Given the description of an element on the screen output the (x, y) to click on. 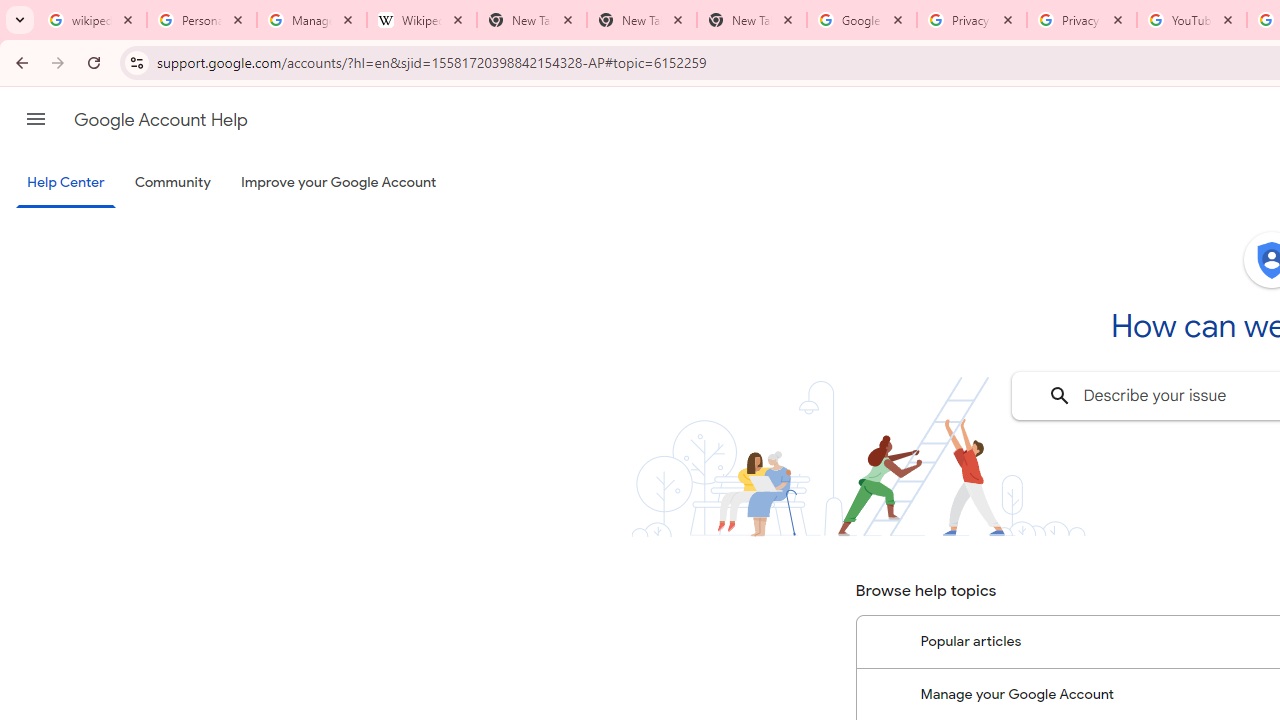
New Tab (752, 20)
New Tab (642, 20)
Wikipedia:Edit requests - Wikipedia (422, 20)
Community (171, 183)
Google Drive: Sign-in (861, 20)
YouTube (1191, 20)
